Given the description of an element on the screen output the (x, y) to click on. 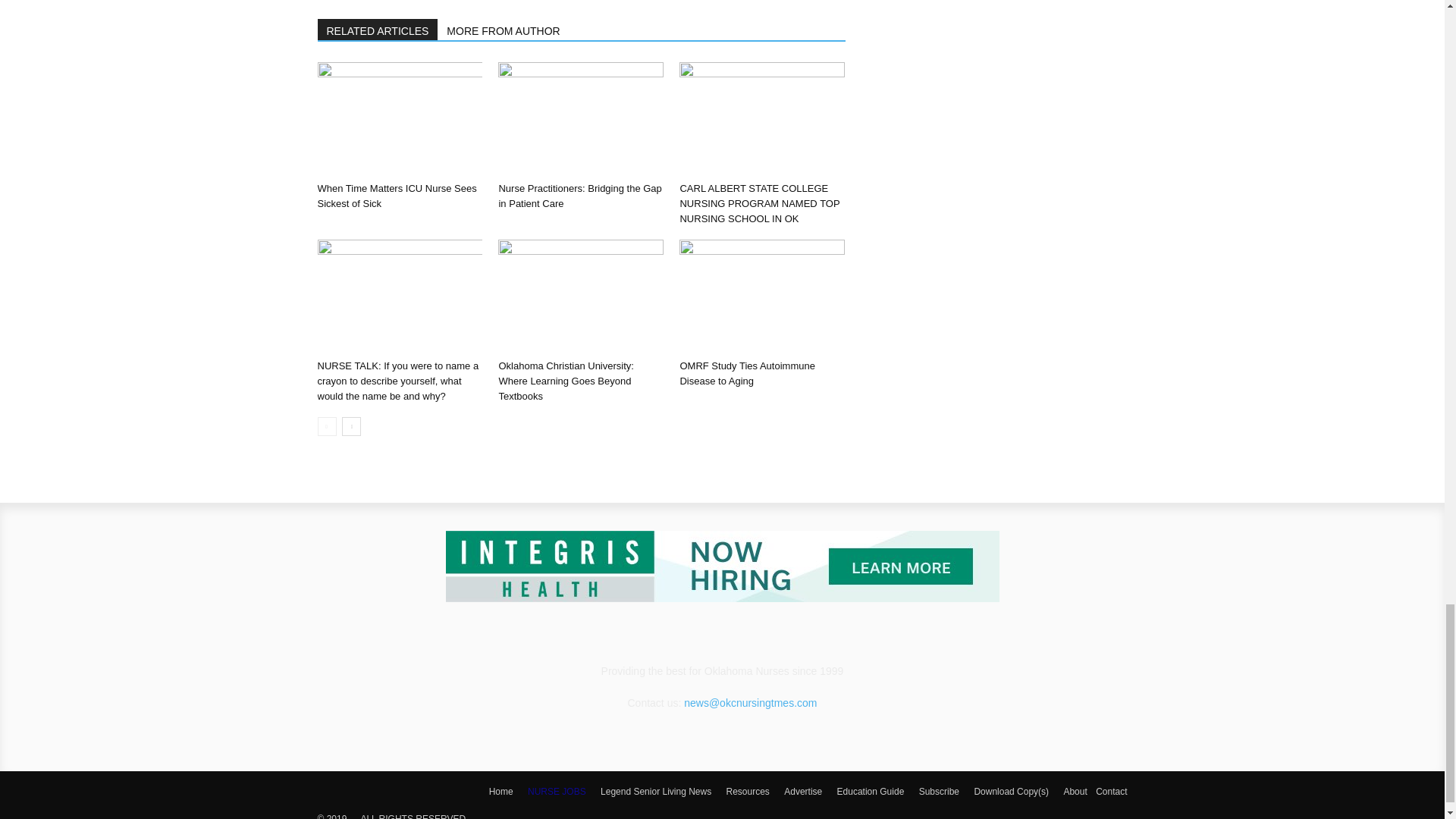
When Time Matters ICU Nurse Sees Sickest of Sick (396, 195)
Nurse Practitioners: Bridging the Gap in Patient Care (580, 119)
When Time Matters ICU Nurse Sees Sickest of Sick (399, 119)
